Given the description of an element on the screen output the (x, y) to click on. 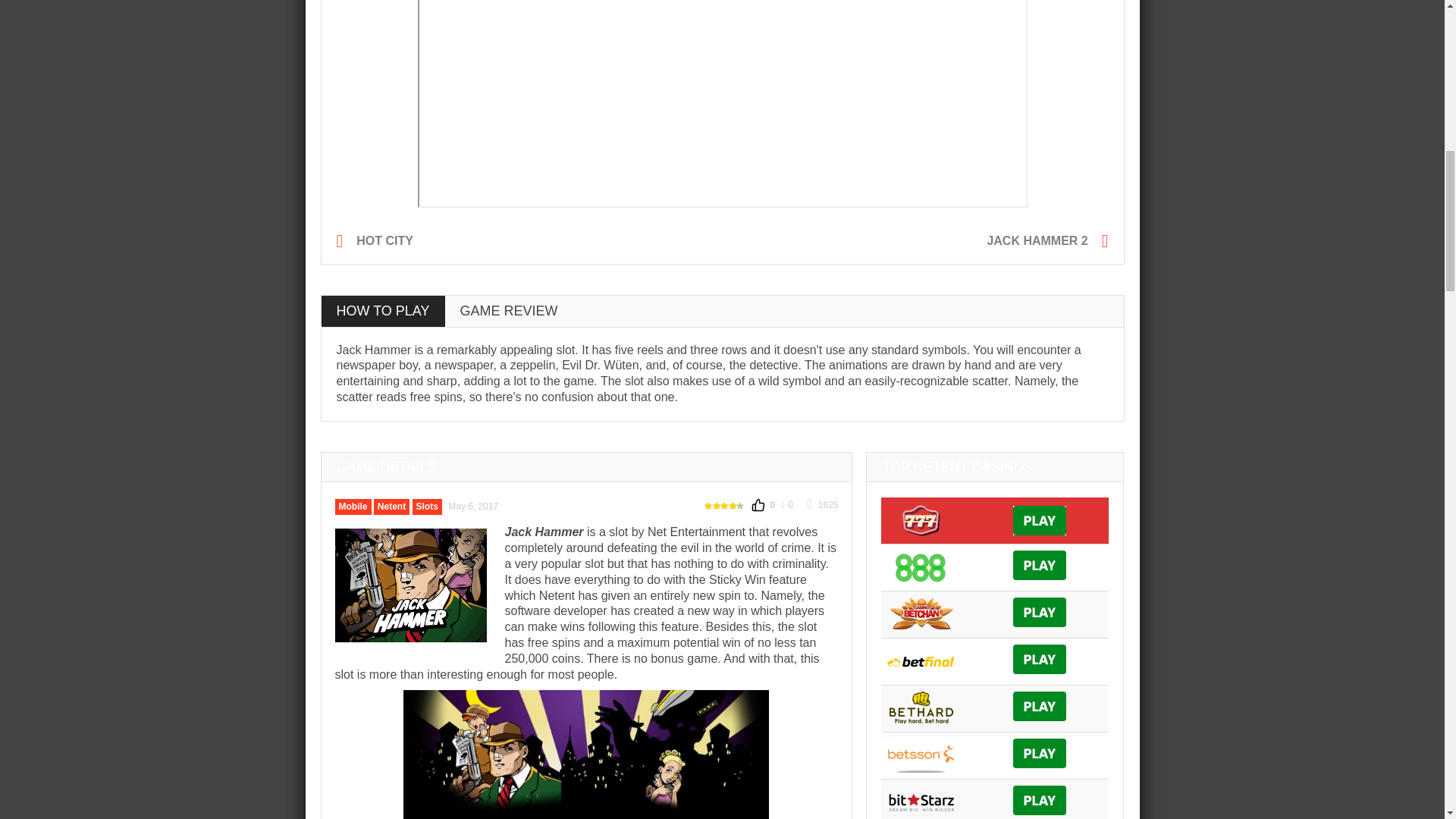
Awesome! (724, 505)
10:15 am (473, 506)
Recommend this (762, 504)
